Given the description of an element on the screen output the (x, y) to click on. 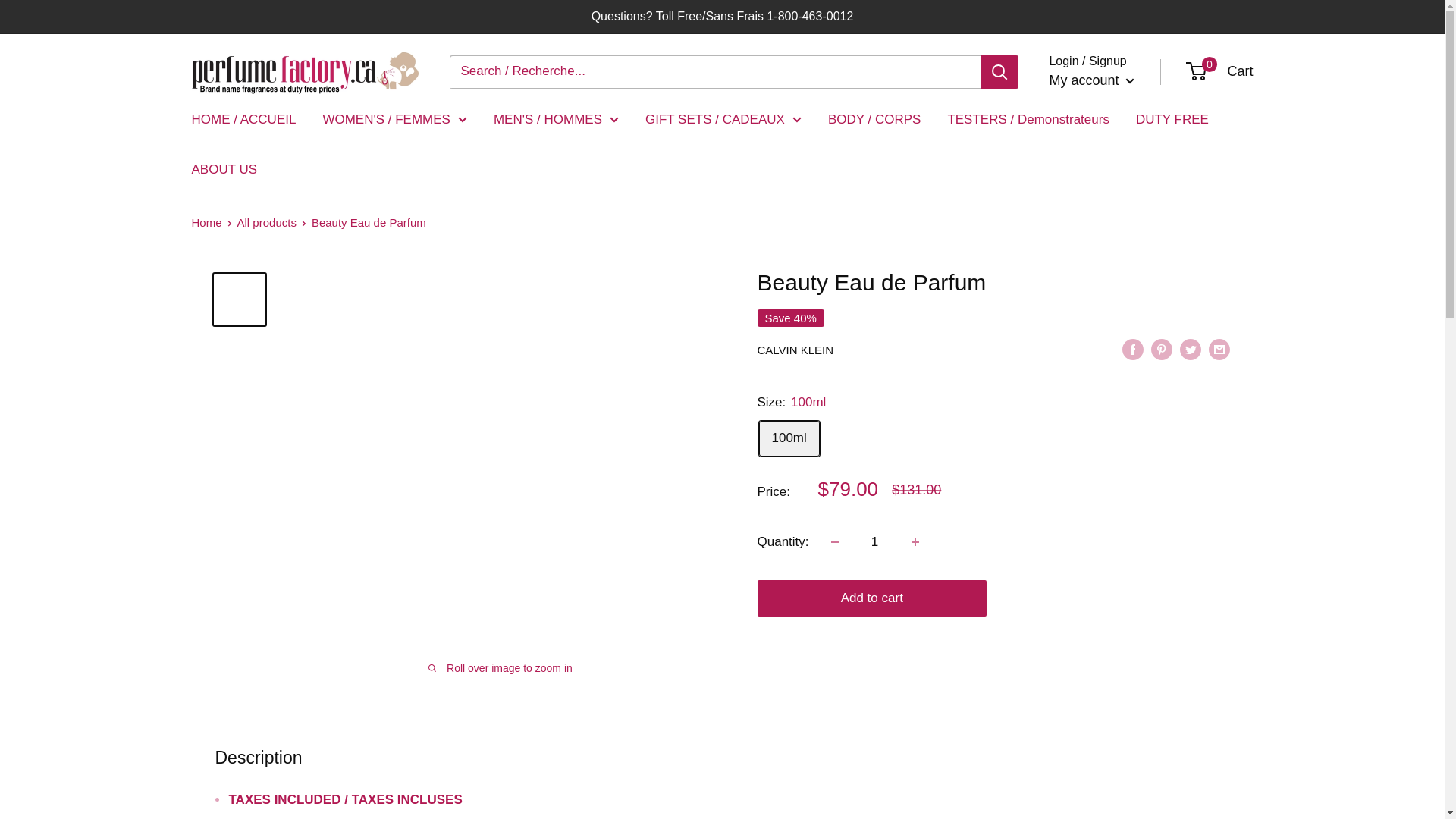
Decrease quantity by 1 (834, 541)
Increase quantity by 1 (915, 541)
100ml (1220, 71)
My account (788, 438)
1 (1091, 80)
Perfume Factory (874, 541)
